Given the description of an element on the screen output the (x, y) to click on. 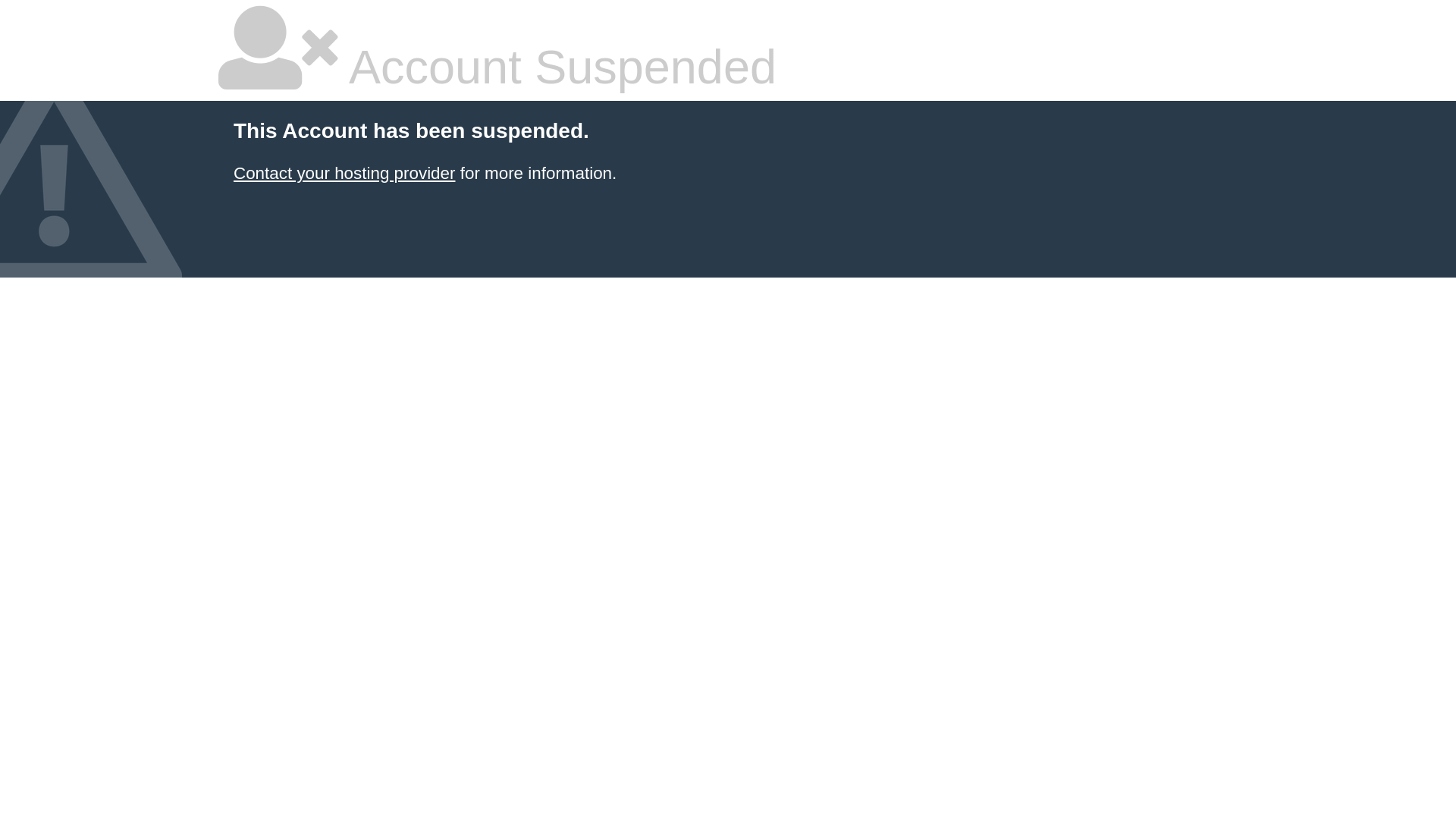
Contact your hosting provider Element type: text (344, 172)
